Given the description of an element on the screen output the (x, y) to click on. 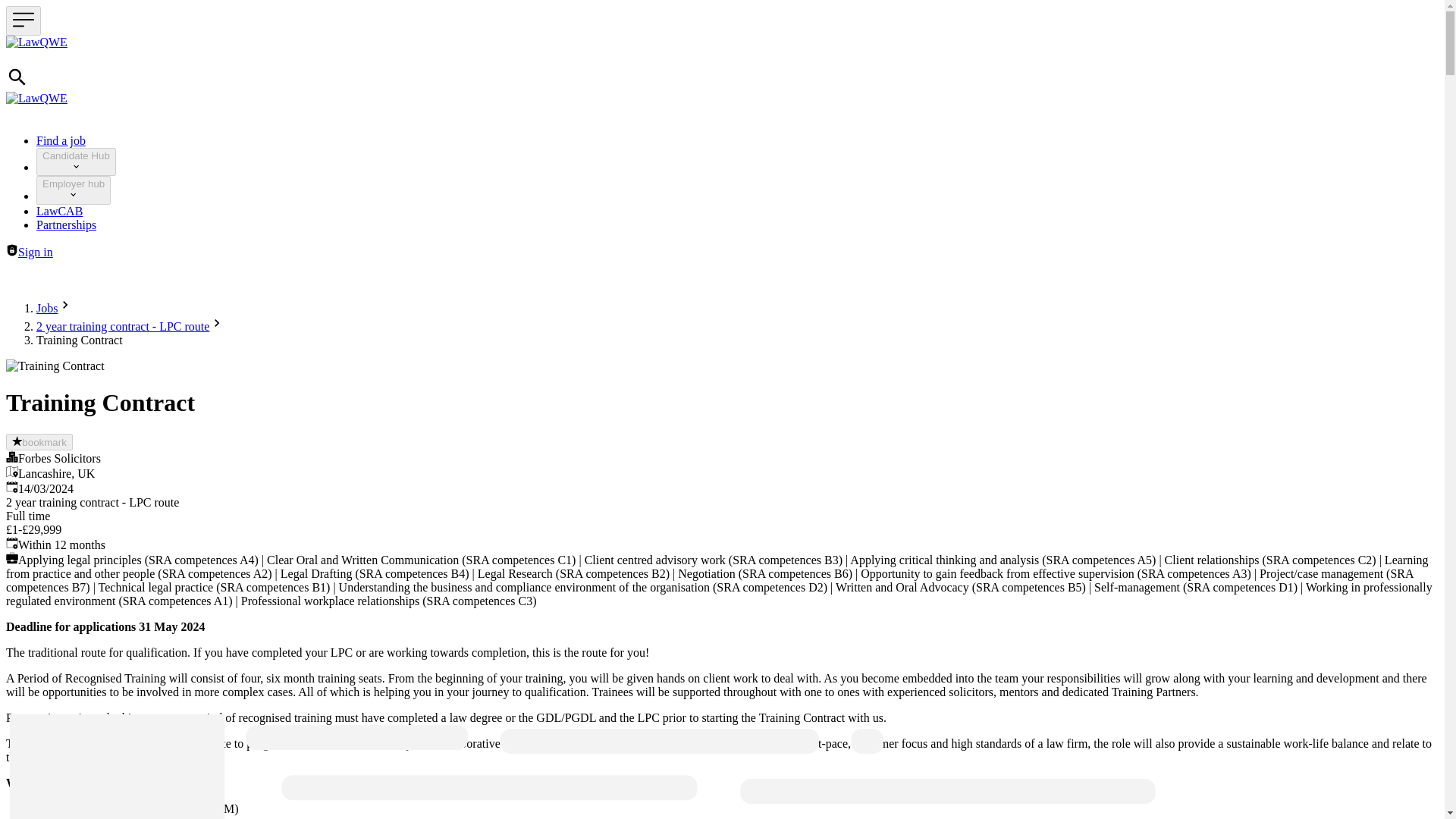
Search (17, 83)
SRA QWE competences (11, 558)
location (11, 471)
Training Contract (54, 366)
Candidate Hub (76, 162)
Published (11, 486)
Employer hub (73, 189)
Menu (22, 20)
2 year training contract - LPC route (122, 326)
bookmark (38, 442)
